Given the description of an element on the screen output the (x, y) to click on. 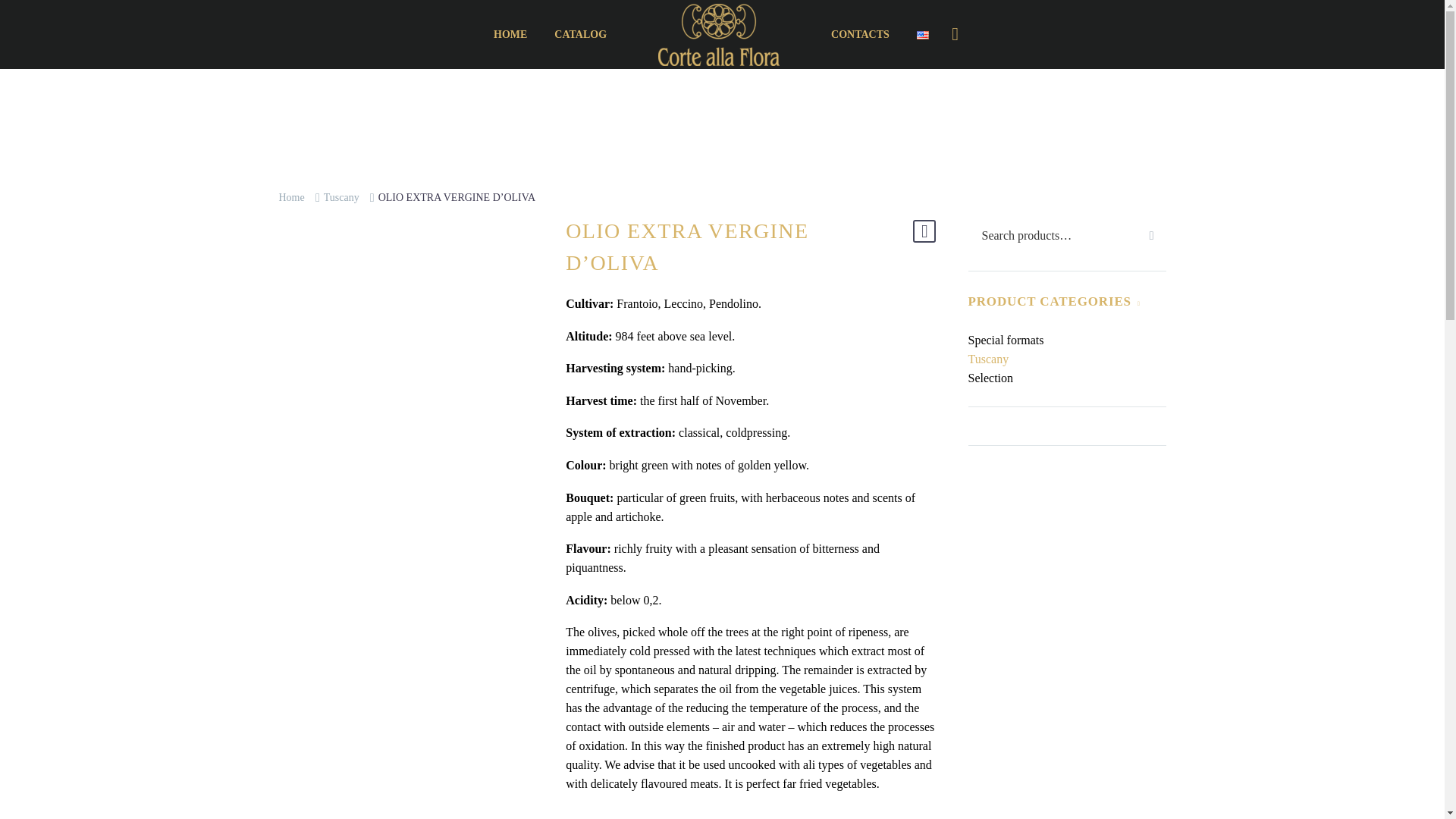
Home (291, 197)
Tuscany (341, 197)
HOME (509, 34)
Search for: (1067, 235)
CATALOG (580, 34)
CONTACTS (860, 34)
Special formats (1067, 339)
Tuscany (1067, 358)
Selection (1067, 377)
